Given the description of an element on the screen output the (x, y) to click on. 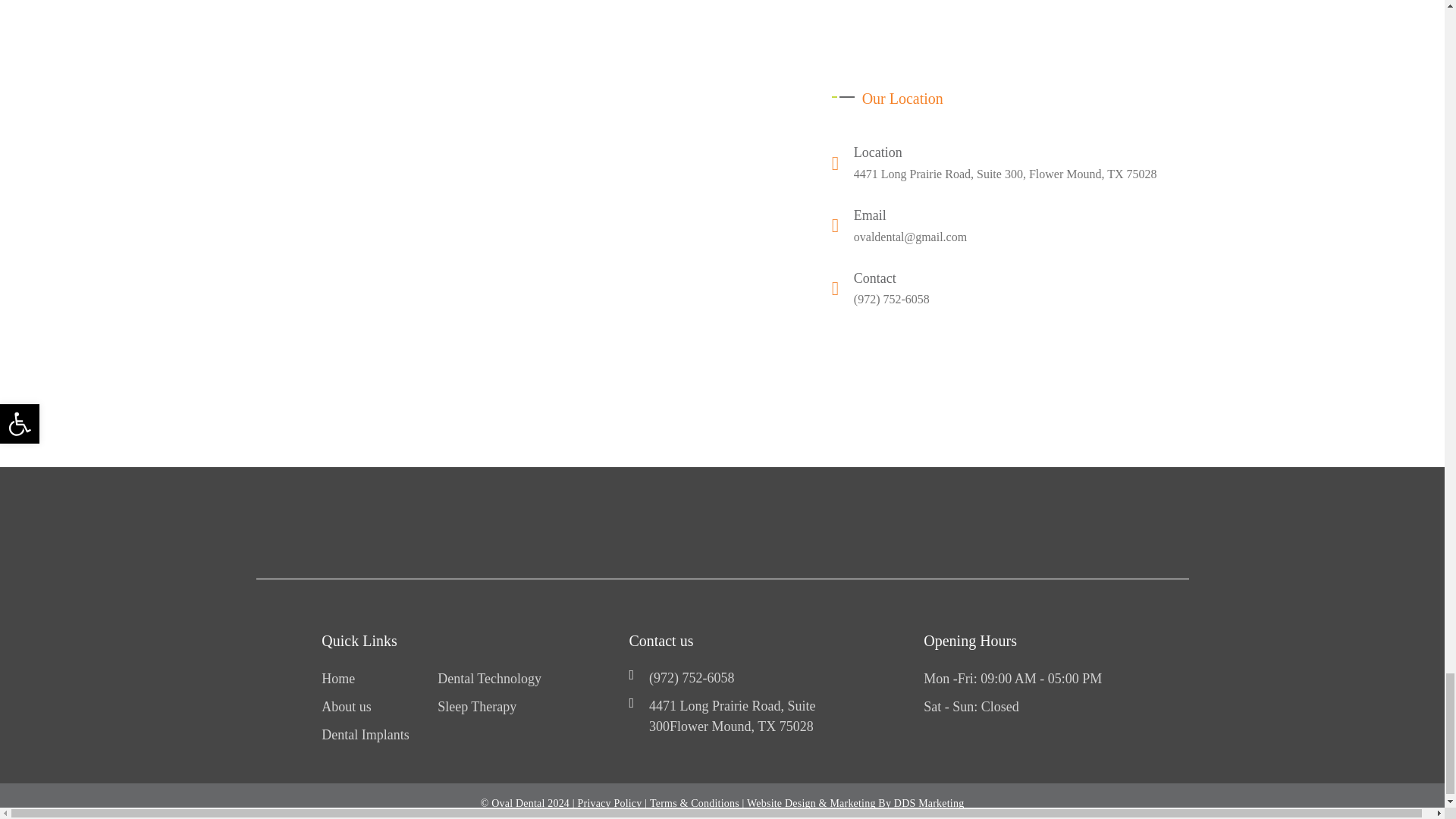
Dental Technology (489, 679)
Dental Implants (365, 734)
Home (338, 679)
About us (346, 707)
